Given the description of an element on the screen output the (x, y) to click on. 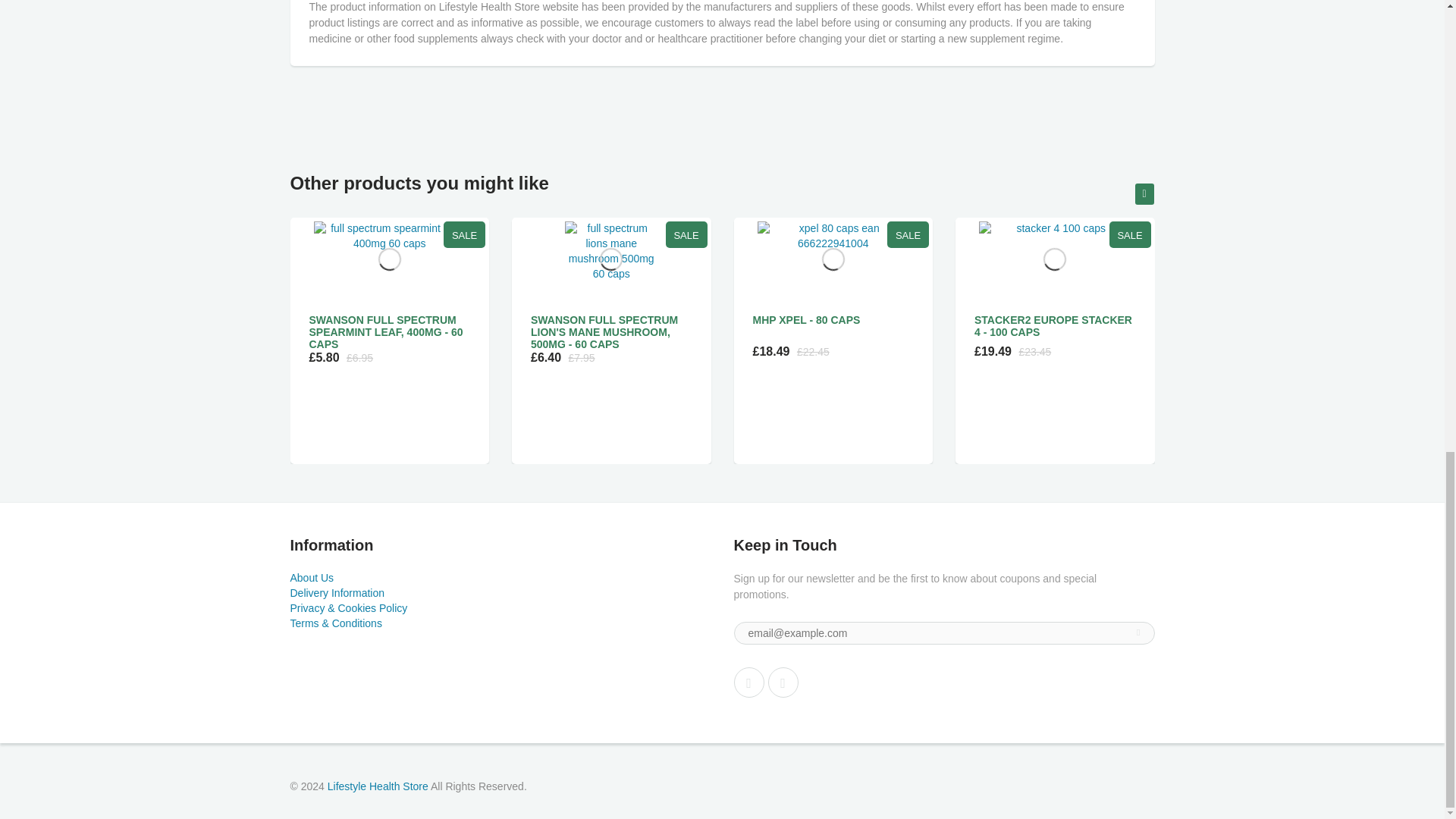
Facebook (748, 682)
SWANSON FULL SPECTRUM SPEARMINT LEAF, 400MG - 60 CAPS (385, 331)
SWANSON FULL SPECTRUM LION'S MANE MUSHROOM, 500MG - 60 CAPS (604, 331)
Instagram (782, 682)
MHP XPEL - 80 CAPS (806, 319)
